Given the description of an element on the screen output the (x, y) to click on. 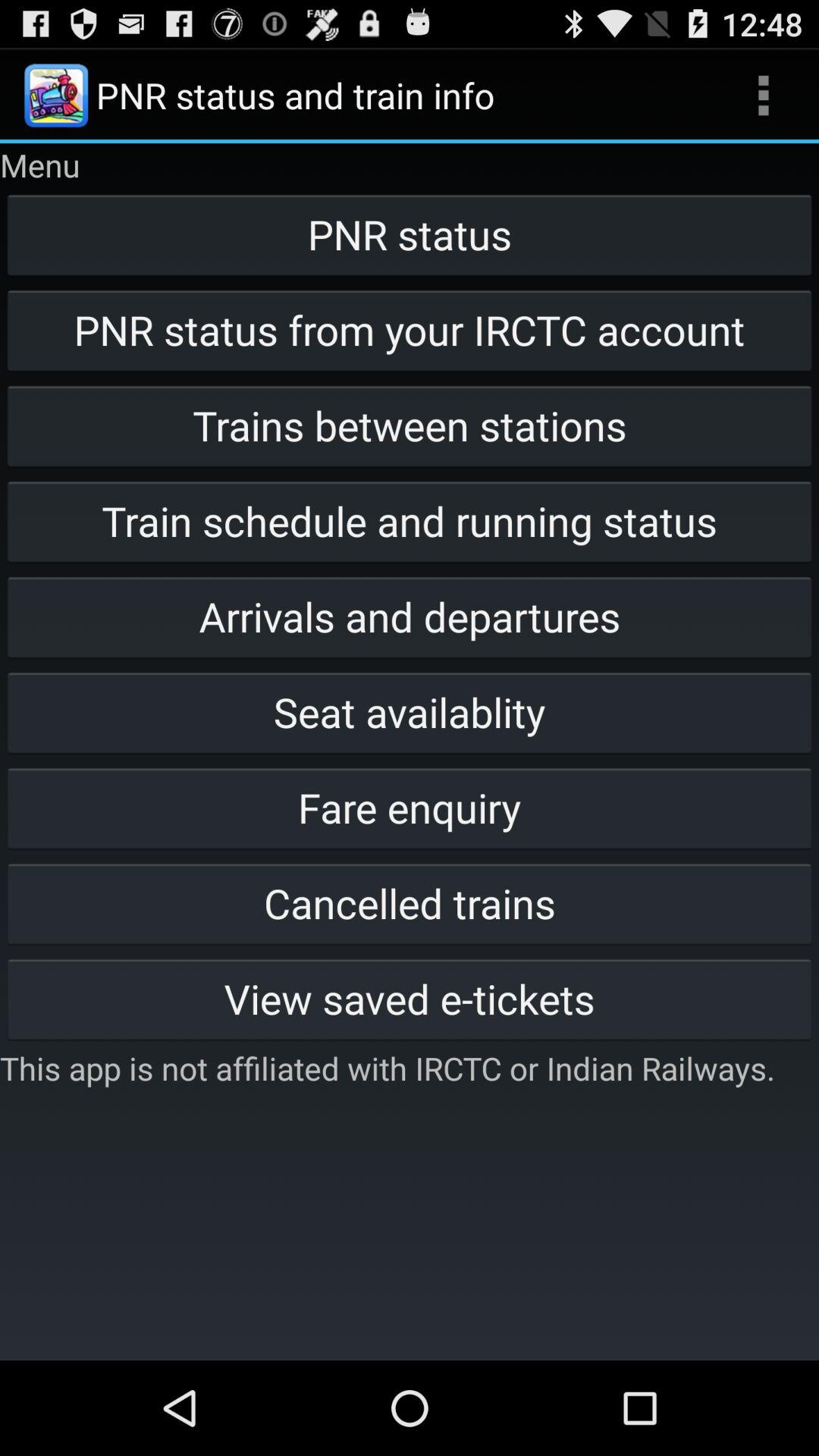
press the item below seat availablity button (409, 807)
